Given the description of an element on the screen output the (x, y) to click on. 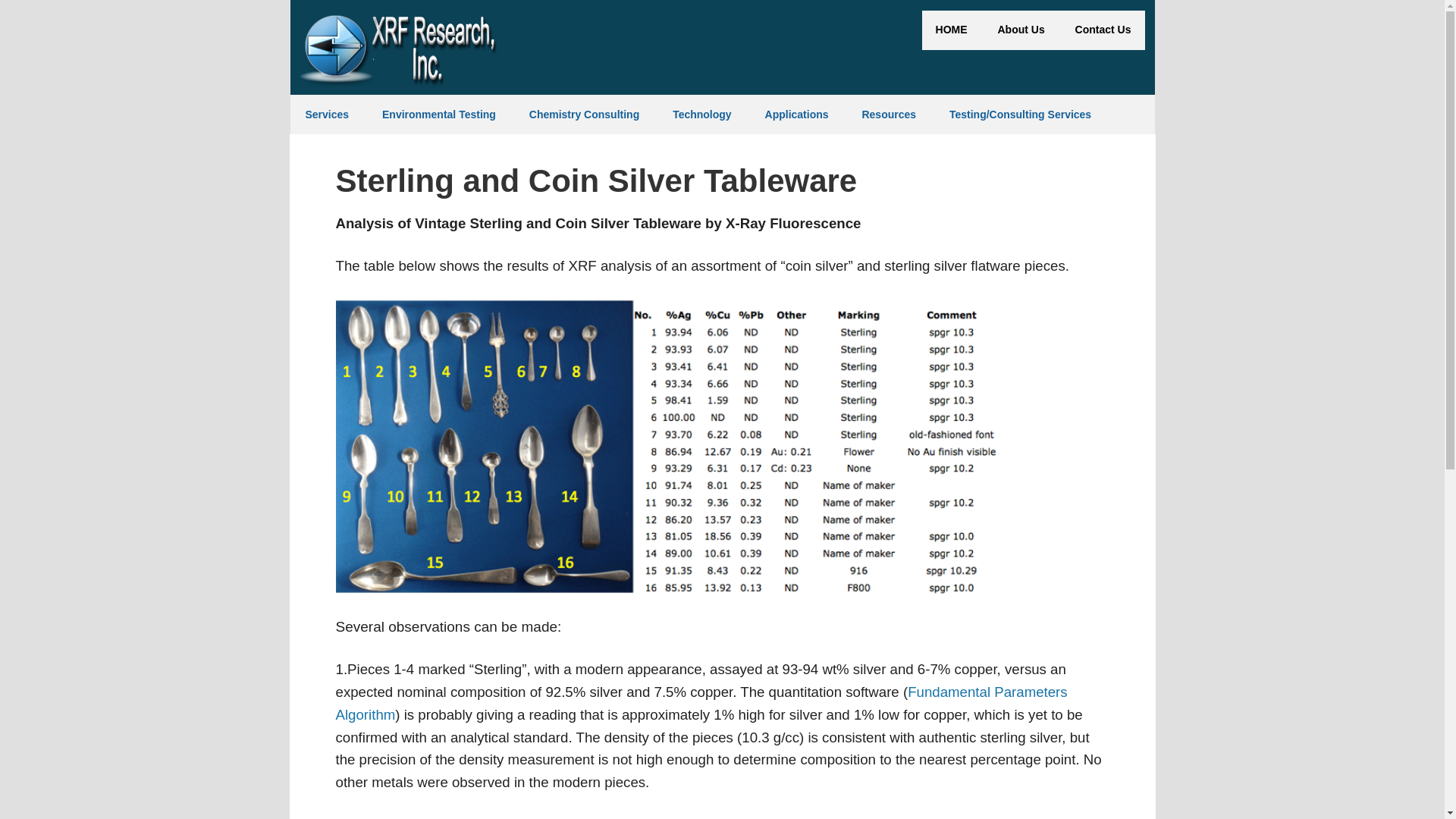
Fundamental Parameters Algorithm (700, 702)
Services (326, 115)
Environmental Testing (438, 115)
Technology (702, 115)
Chemistry Consulting (583, 115)
Resources (888, 115)
XRF Research (398, 48)
Applications (796, 115)
Contact Us (1102, 29)
About Us (1021, 29)
